Given the description of an element on the screen output the (x, y) to click on. 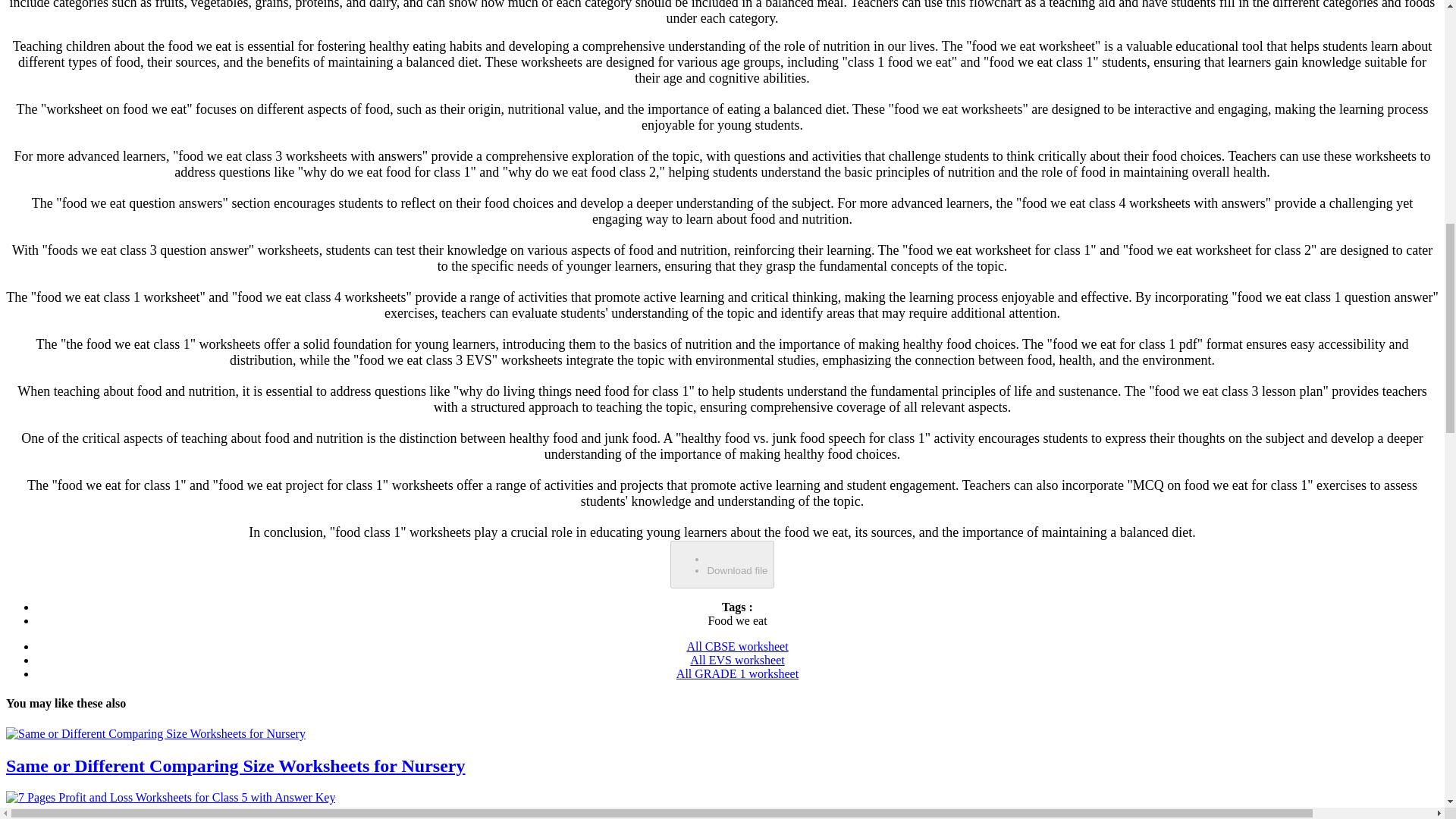
Same or Different Comparing Size Worksheets for Nursery  (155, 734)
